Given the description of an element on the screen output the (x, y) to click on. 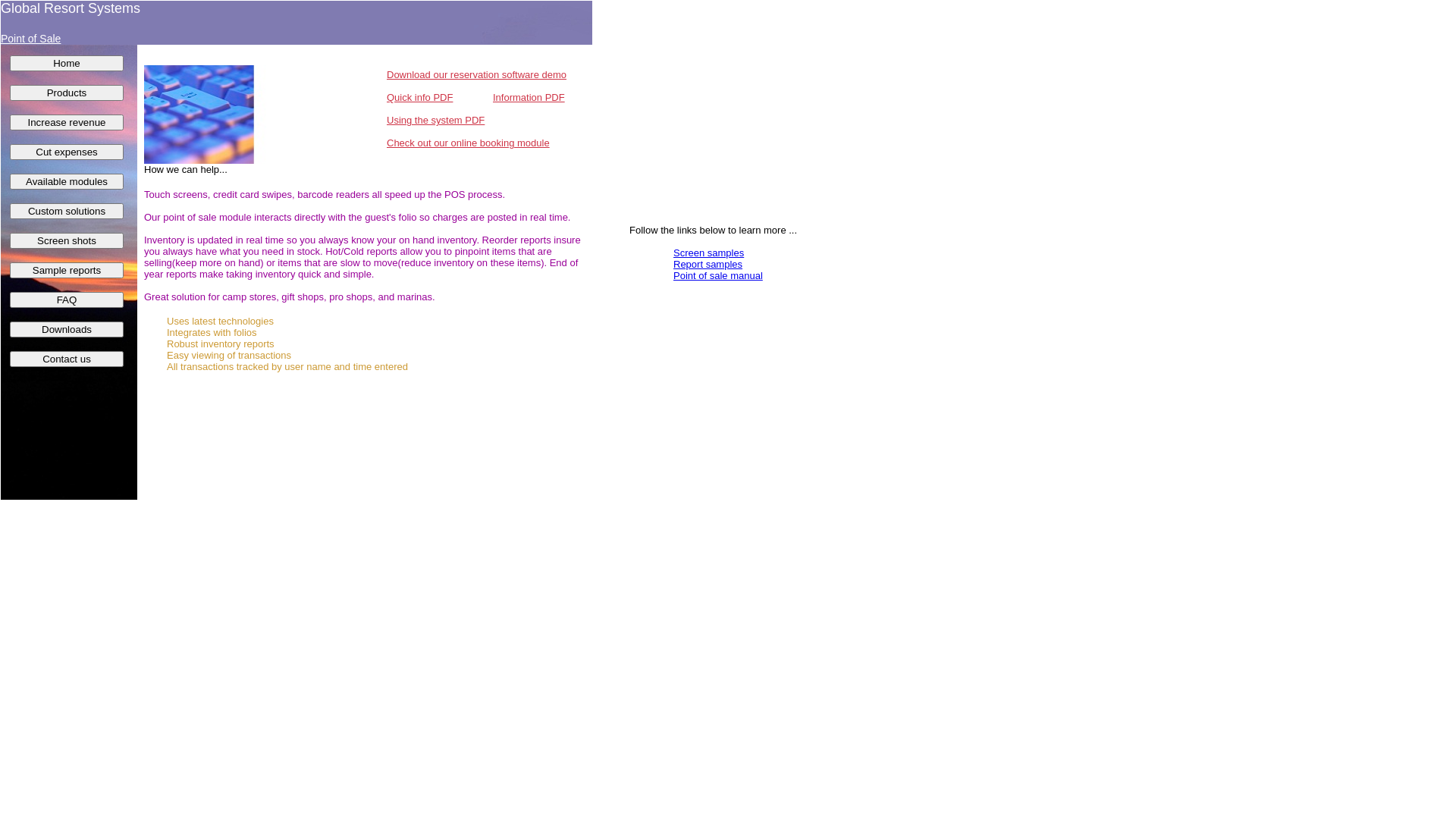
Point of sale manual Element type: text (717, 275)
Increase revenue Element type: text (66, 122)
Downloads Element type: text (66, 329)
Report samples Element type: text (707, 263)
Contact us Element type: text (66, 359)
Available modules Element type: text (66, 181)
Check out our online booking module Element type: text (467, 142)
Custom solutions Element type: text (66, 211)
Download our reservation software demo Element type: text (476, 74)
Using the system PDF Element type: text (435, 119)
Sample reports Element type: text (66, 270)
Products Element type: text (66, 92)
FAQ Element type: text (66, 299)
Quick info PDF Element type: text (419, 97)
Screen samples Element type: text (708, 252)
Screen shots Element type: text (66, 240)
Home Element type: text (66, 63)
Information PDF Element type: text (528, 97)
Cut expenses Element type: text (66, 152)
